Given the description of an element on the screen output the (x, y) to click on. 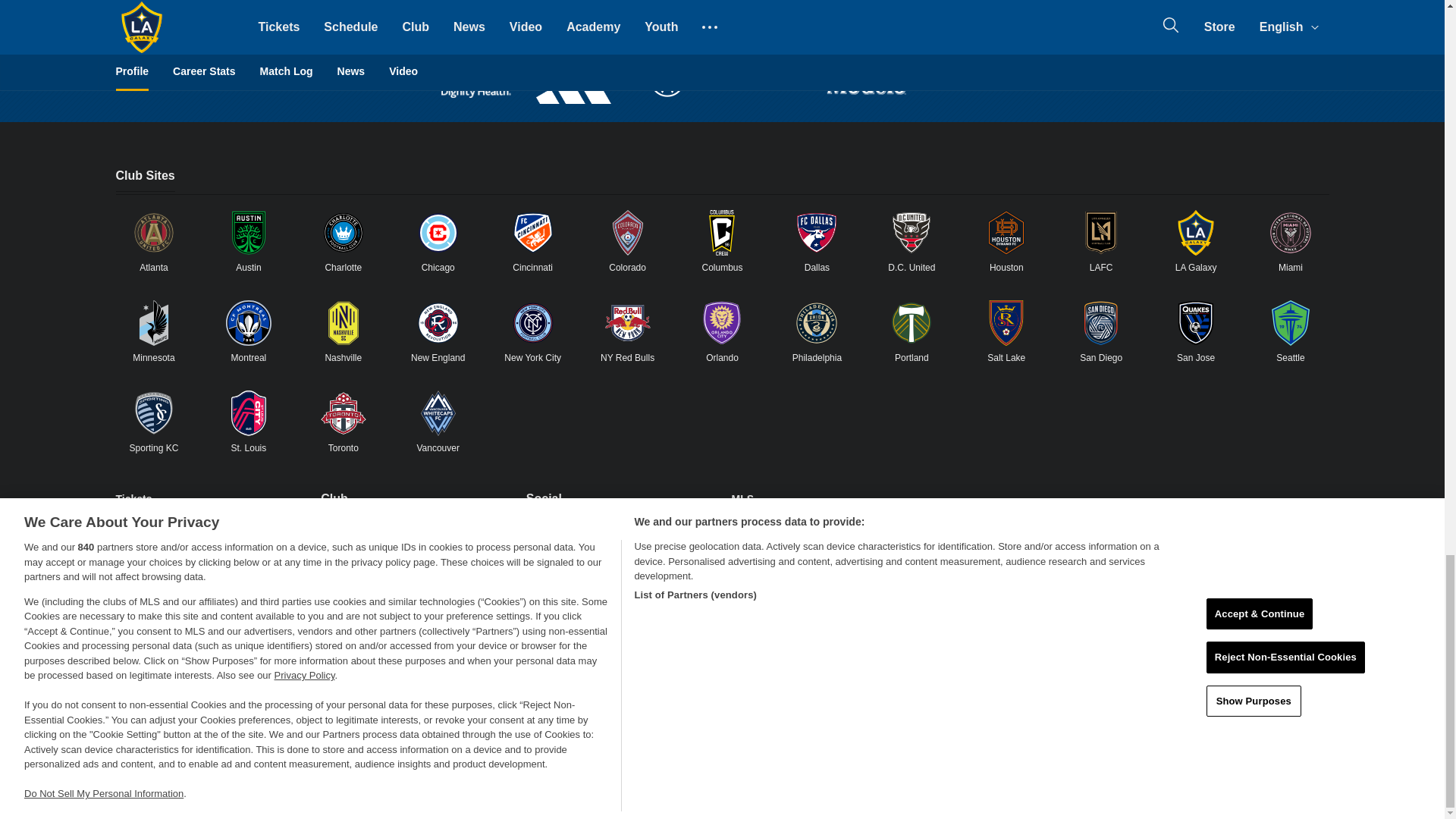
Link to LAFC (1101, 232)
Link to Minnesota (153, 322)
Link to Nashville (343, 322)
Link to Montreal (247, 322)
Link to Austin (247, 232)
Link to Atlanta (153, 232)
Link to Miami (1290, 232)
Link to Dallas (816, 232)
Link to Chicago (437, 232)
Link to Charlotte (343, 232)
Link to Cincinnati (533, 232)
Link to Columbus (721, 232)
Link to Houston (1006, 232)
Link to D.C. United (911, 232)
Link to Colorado (627, 232)
